Given the description of an element on the screen output the (x, y) to click on. 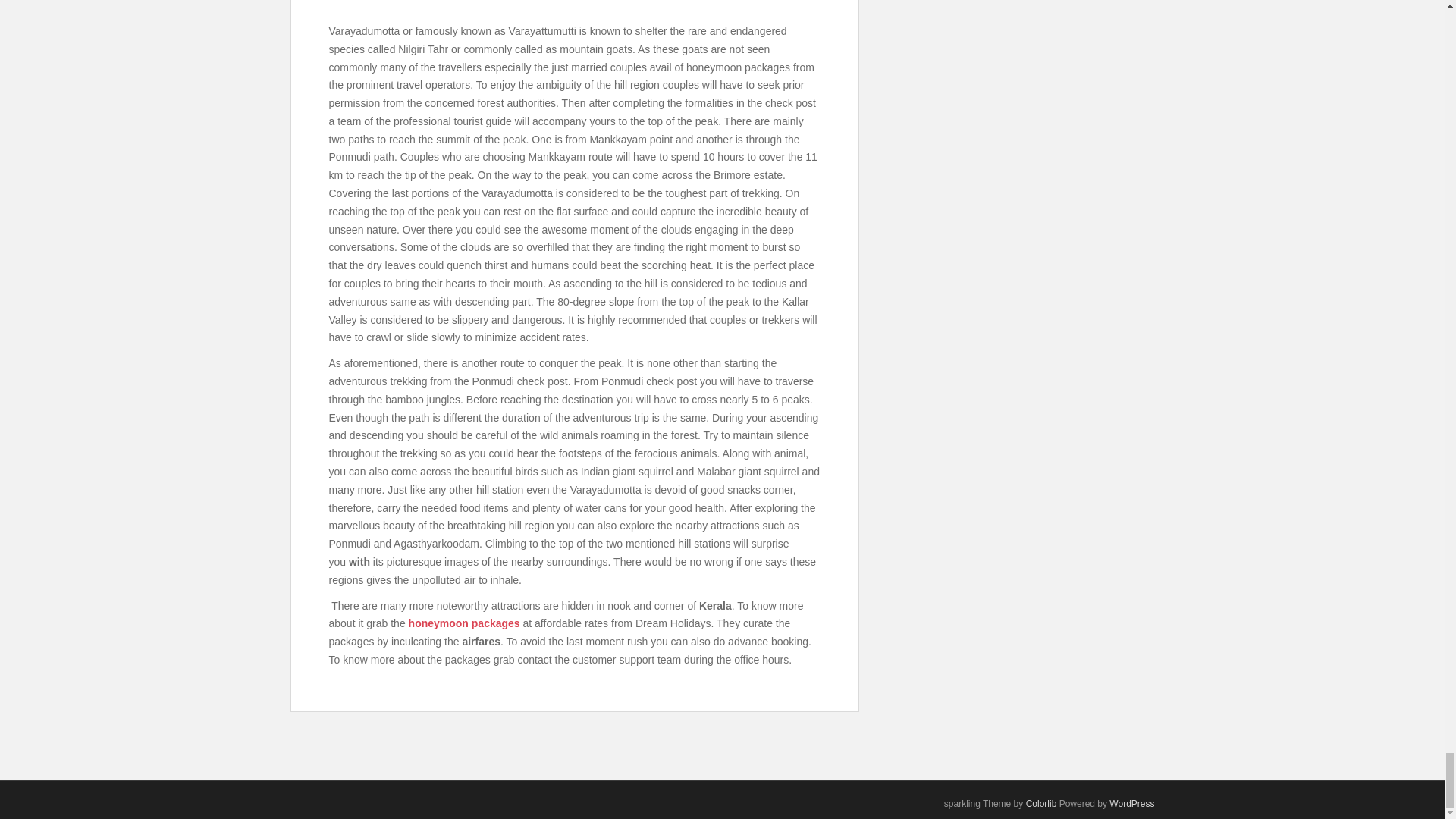
honeymoon packages (464, 623)
